Given the description of an element on the screen output the (x, y) to click on. 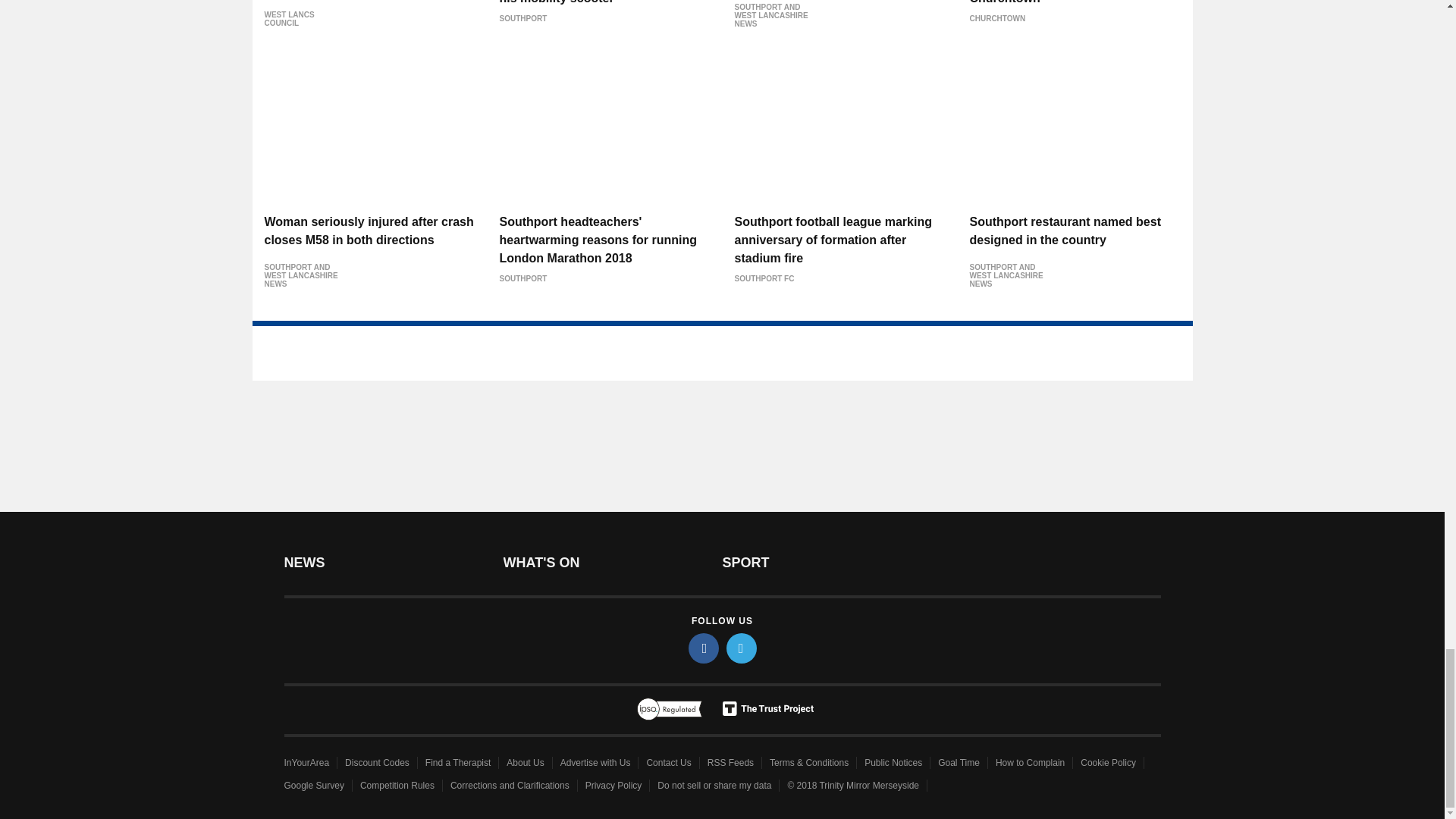
facebook (703, 648)
twitter (741, 648)
